Given the description of an element on the screen output the (x, y) to click on. 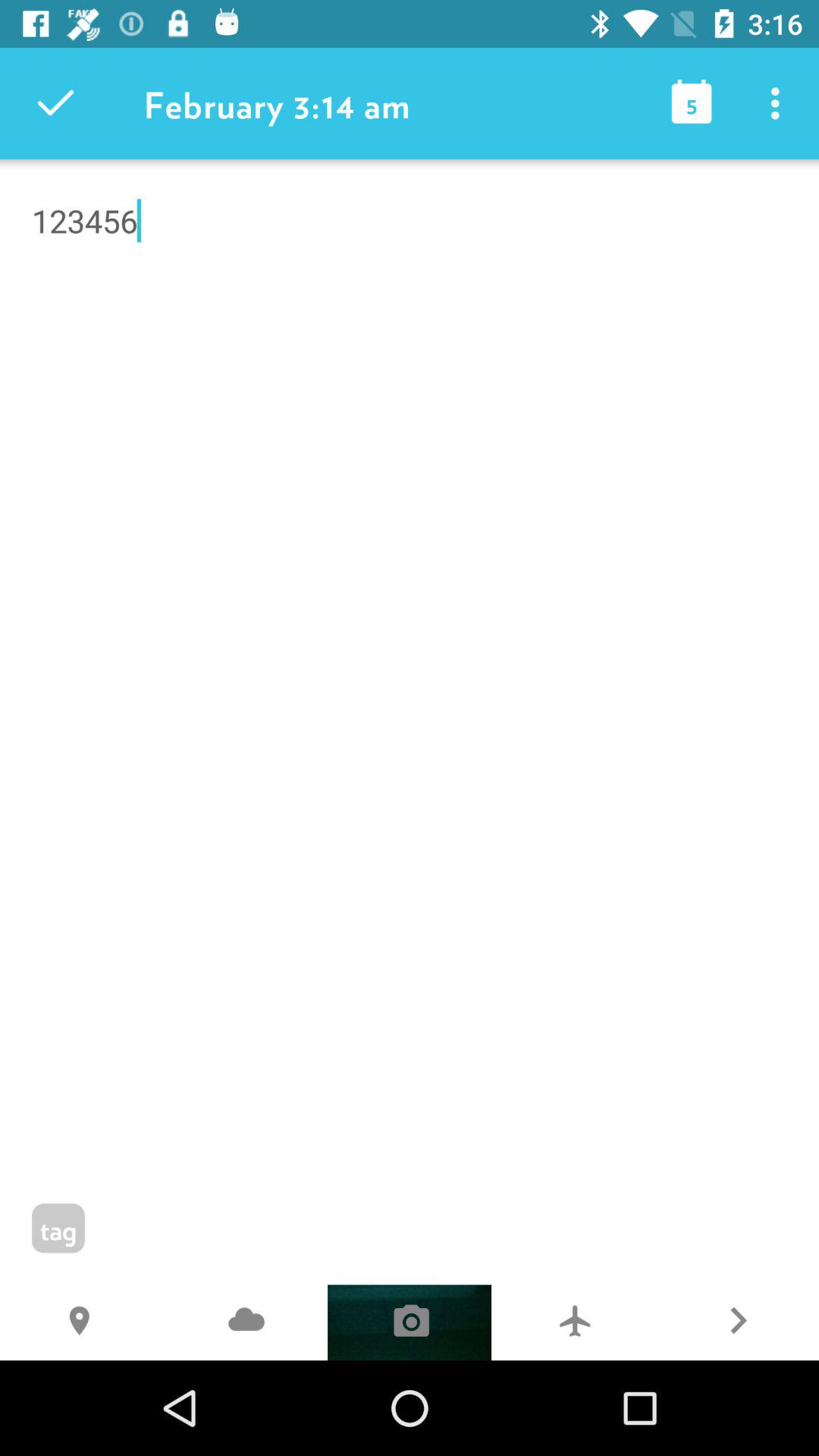
open item next to the february 3 14 icon (55, 103)
